Given the description of an element on the screen output the (x, y) to click on. 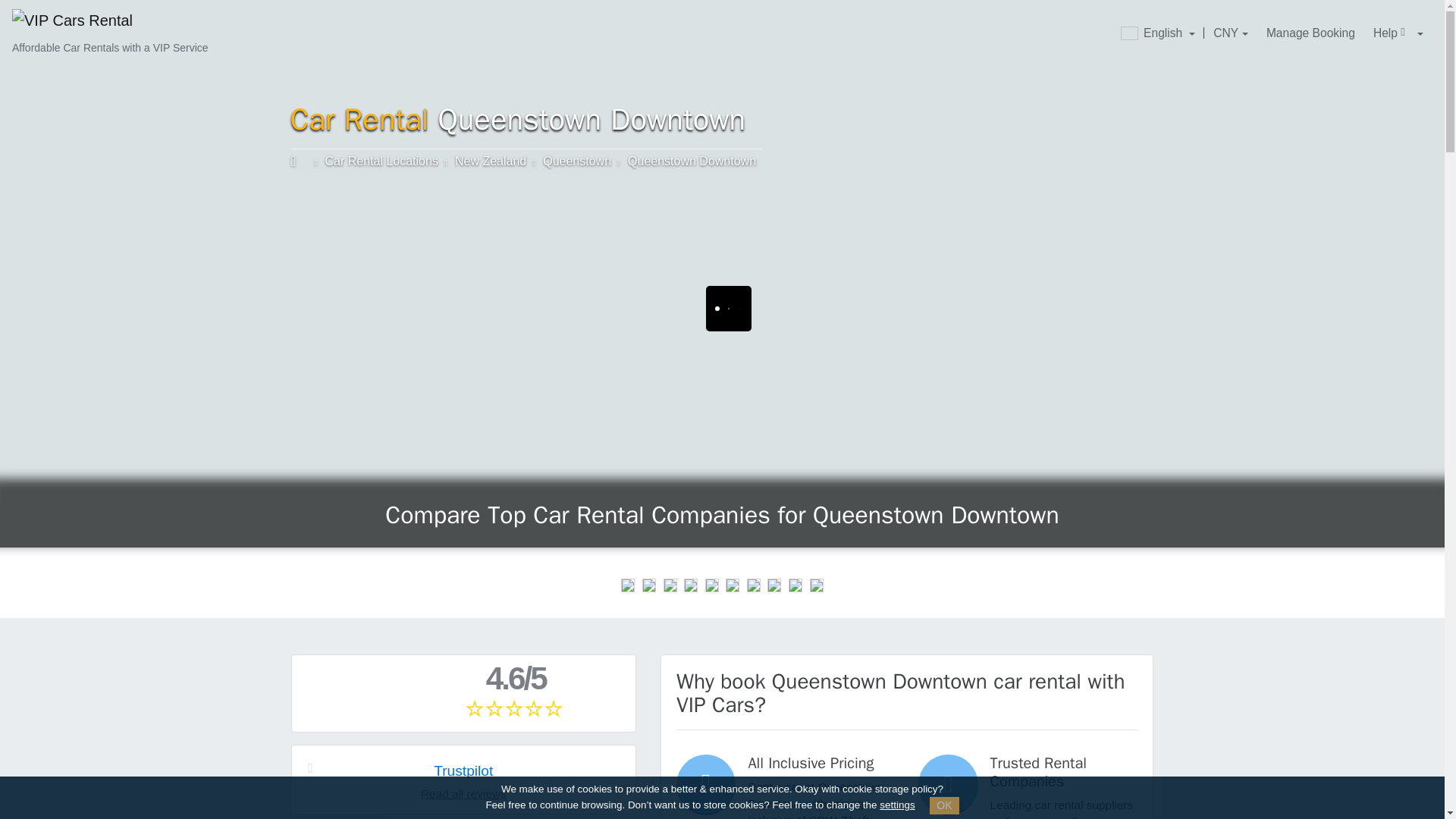
Help (1398, 33)
Go Rentals (732, 585)
Bargain Car Rentals (753, 585)
Alamo (670, 585)
New Zealand (489, 160)
Queenstown (577, 160)
CNY (1230, 33)
Car Rental Locations (381, 160)
VIP Cars (73, 22)
Queenstown (577, 160)
